Given the description of an element on the screen output the (x, y) to click on. 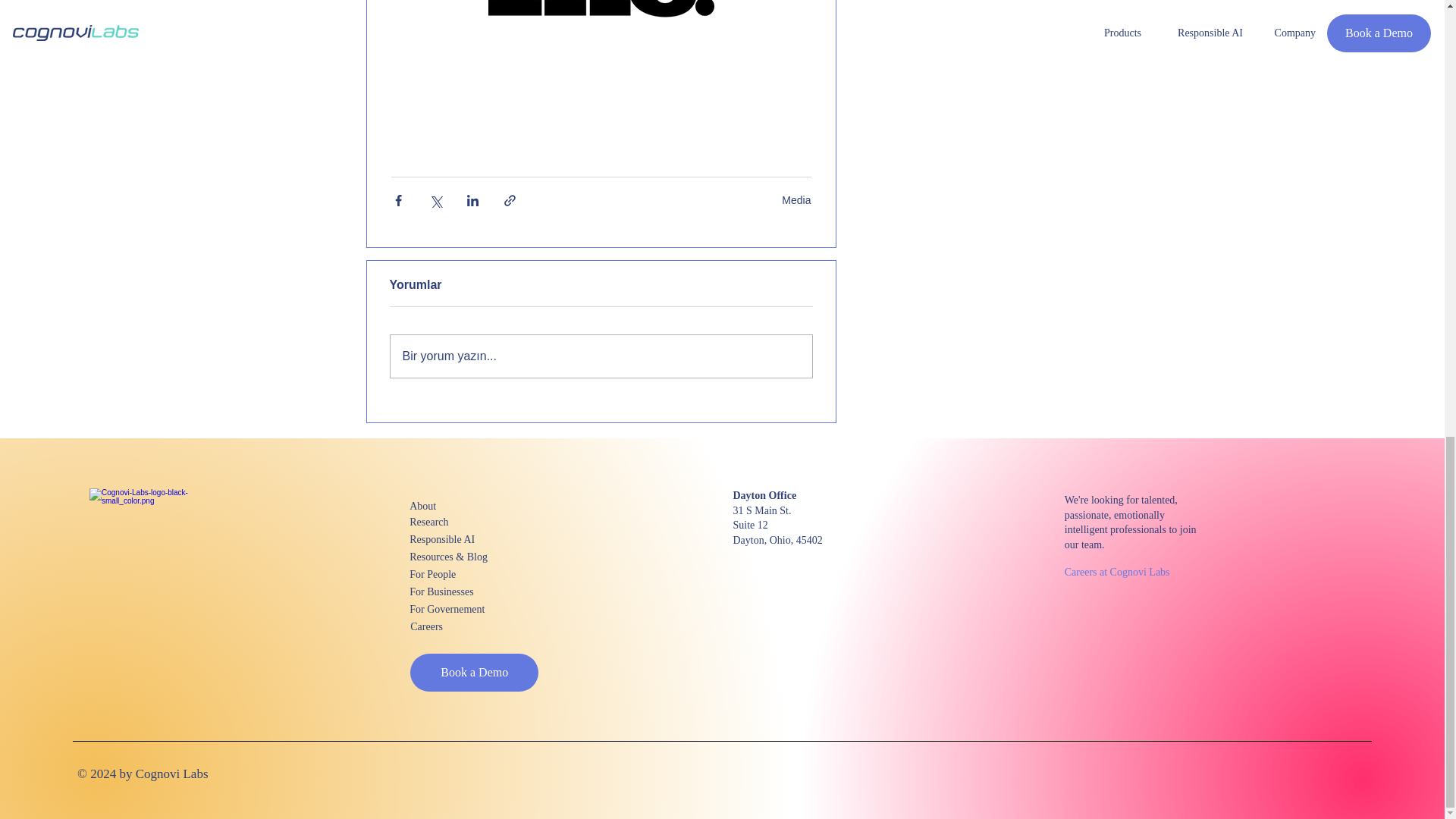
Book a Demo (474, 672)
For Businesses (463, 591)
For Governement (463, 609)
Research (463, 521)
Careers at Cognovi Labs (1118, 571)
Media (795, 200)
Careers (464, 626)
Responsible AI (463, 538)
About (463, 506)
For People (463, 574)
